Given the description of an element on the screen output the (x, y) to click on. 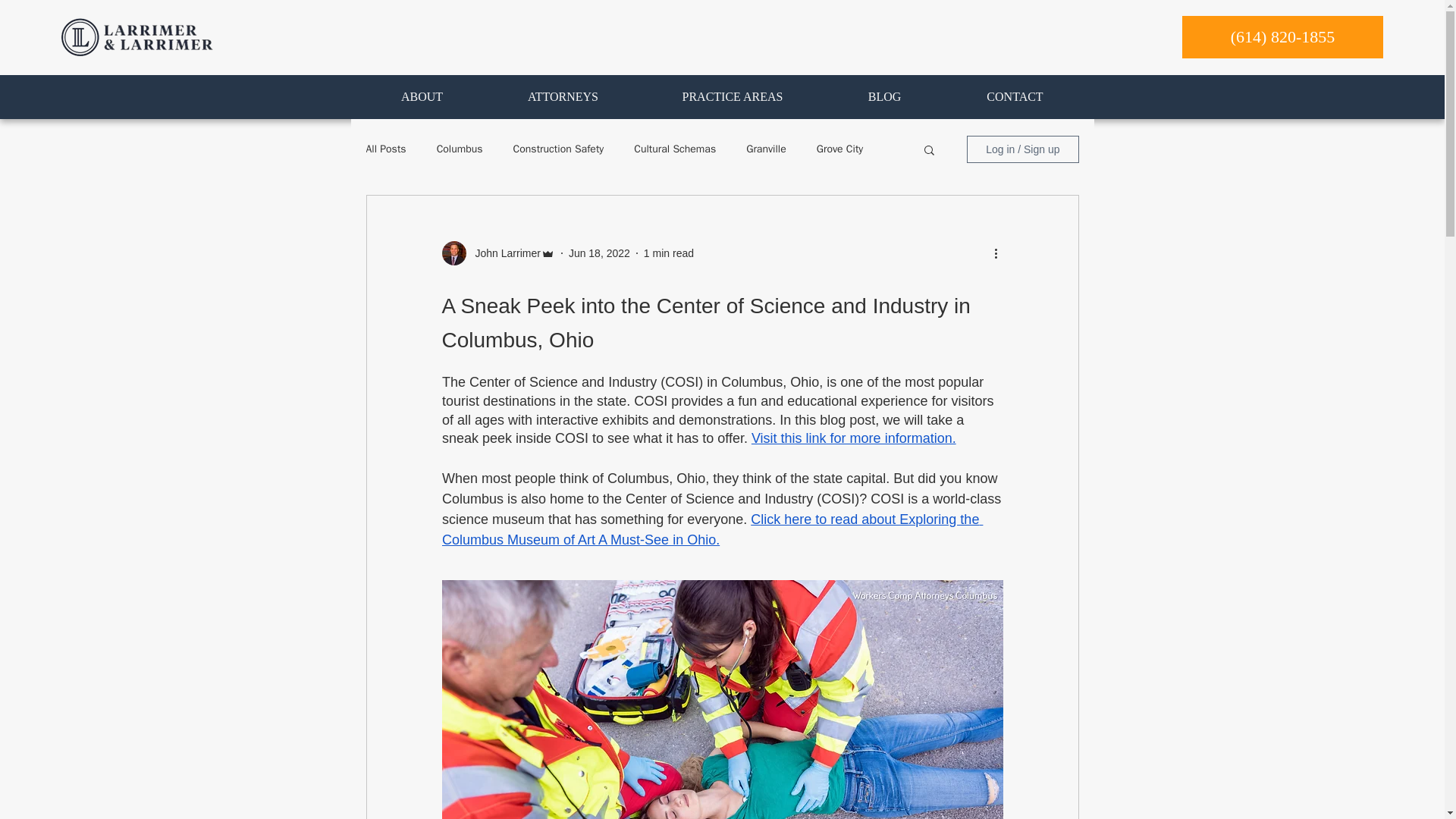
Columbus (459, 149)
Grove City (839, 149)
Cultural Schemas (674, 149)
1 min read (668, 253)
ATTORNEYS (562, 96)
Construction Safety (558, 149)
Jun 18, 2022 (599, 253)
Granville (765, 149)
PRACTICE AREAS (732, 96)
CONTACT (1015, 96)
BLOG (884, 96)
All Posts (385, 149)
John Larrimer (502, 253)
